Given the description of an element on the screen output the (x, y) to click on. 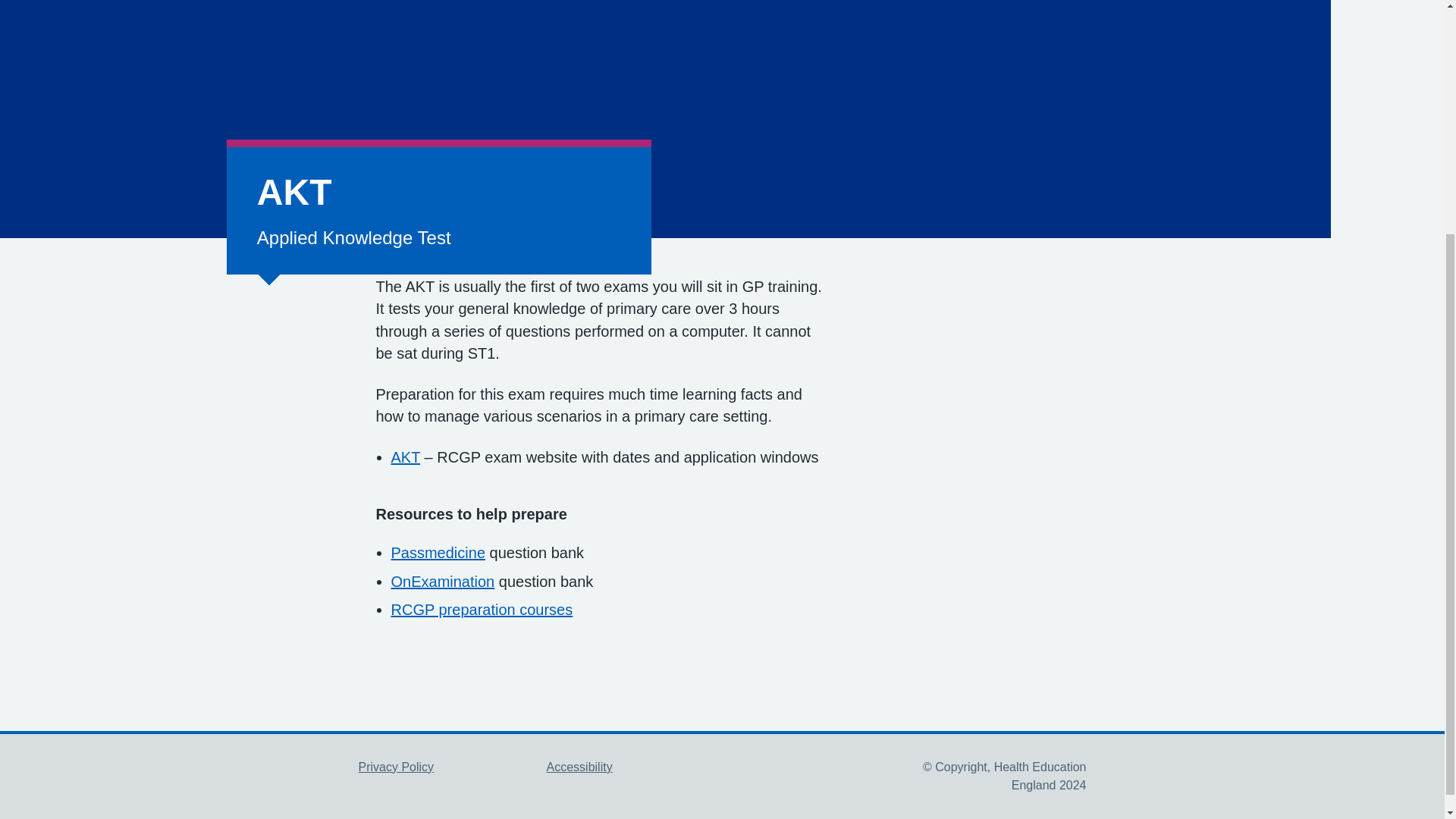
Accessibility (578, 766)
Privacy Policy (395, 766)
Passmedicine (438, 552)
OnExamination (443, 581)
RCGP preparation courses (482, 609)
AKT (405, 457)
